Given the description of an element on the screen output the (x, y) to click on. 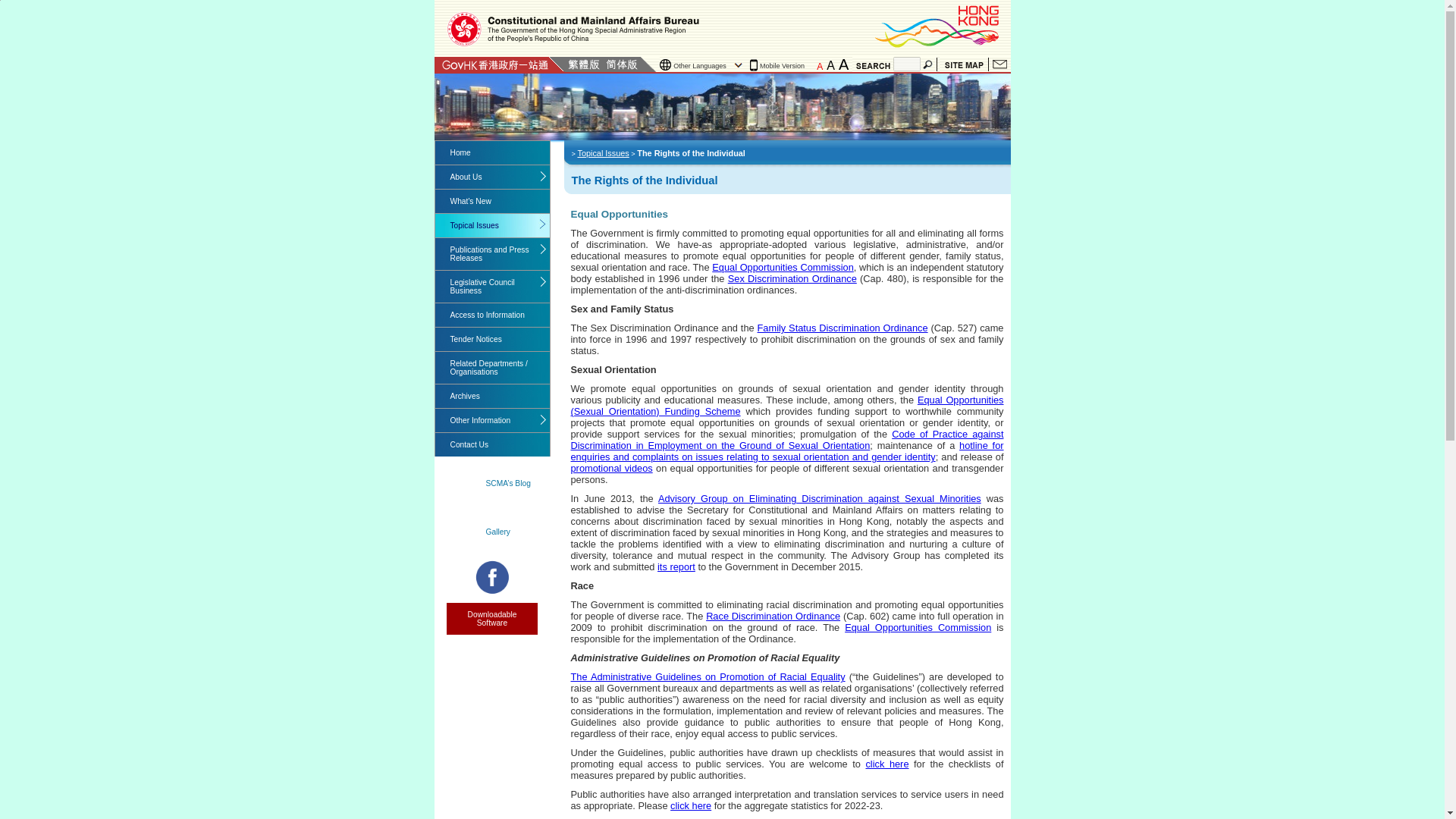
Simplified Chinese (621, 64)
This link will open in a new window (917, 627)
What's New (492, 200)
Contact Us (999, 64)
About Us (492, 177)
Brand Hong Kong - Asia's world city (938, 26)
Search (928, 64)
Other Languages (702, 65)
Site Map (963, 64)
Home (492, 152)
Mobile Version (779, 65)
Topical Issues (492, 225)
Traditional Chinese (583, 64)
